Given the description of an element on the screen output the (x, y) to click on. 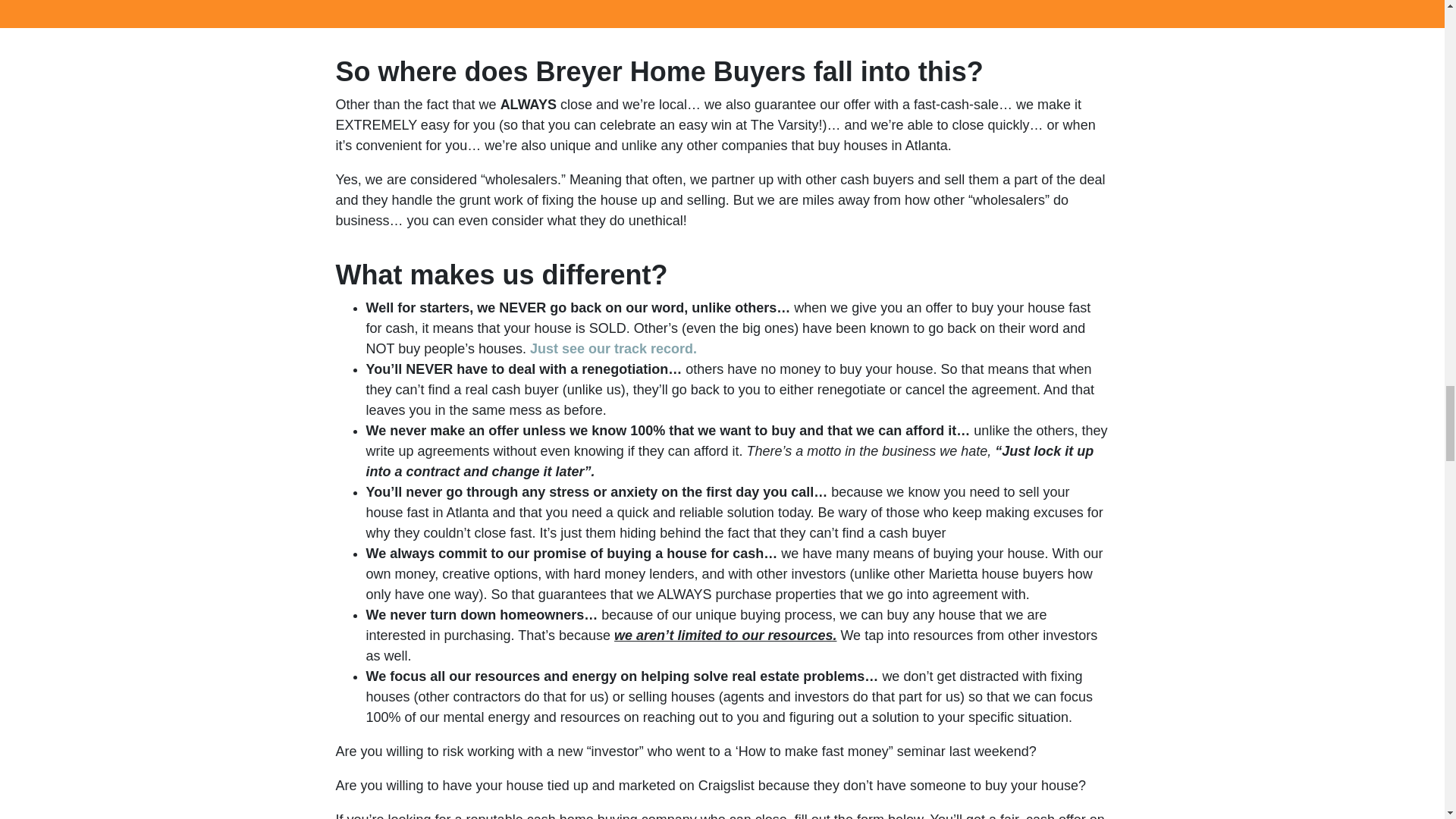
Just see our track record. (613, 348)
